Given the description of an element on the screen output the (x, y) to click on. 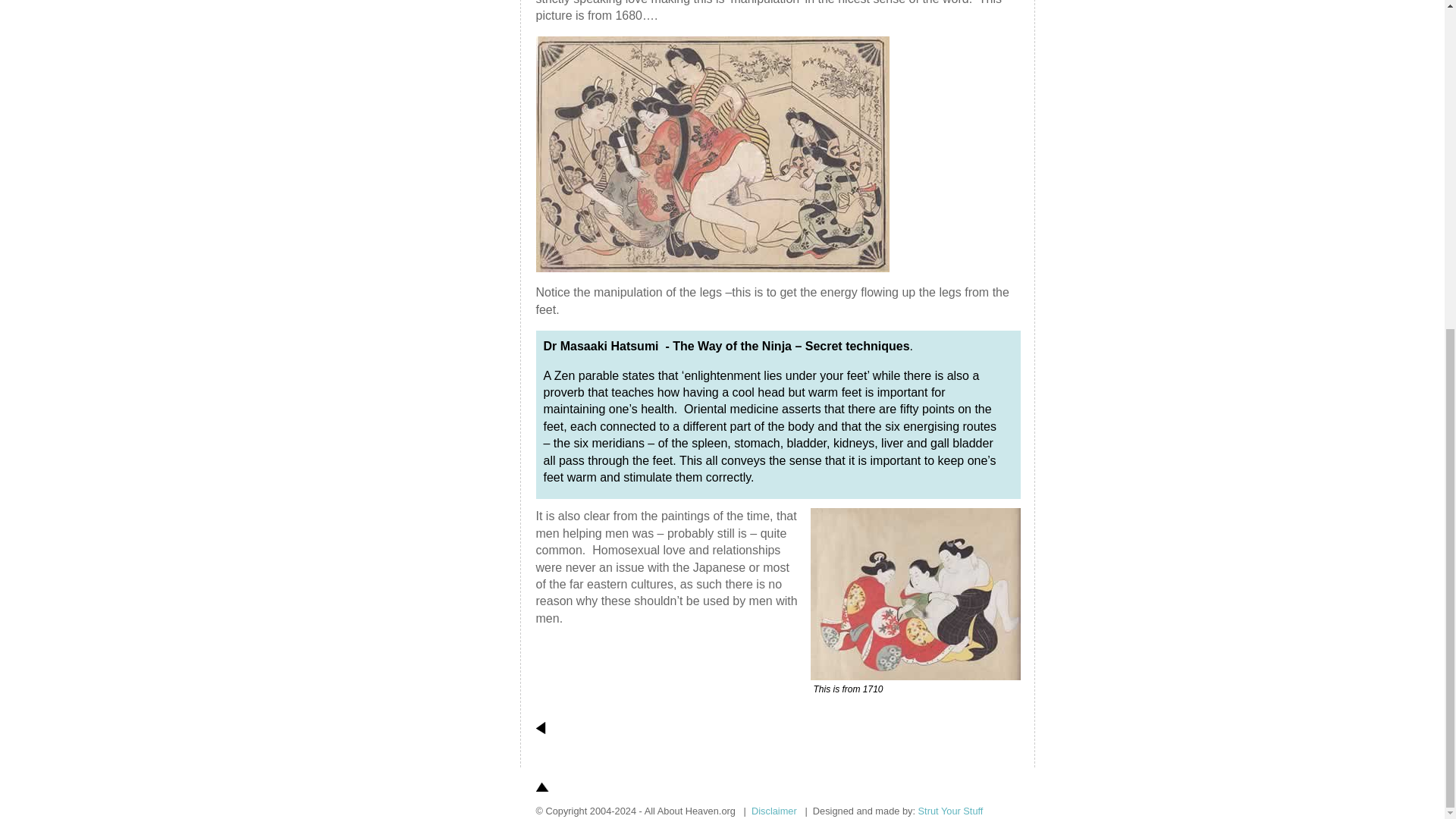
Strut Your Stuff (951, 810)
Disclaimer (773, 810)
